Given the description of an element on the screen output the (x, y) to click on. 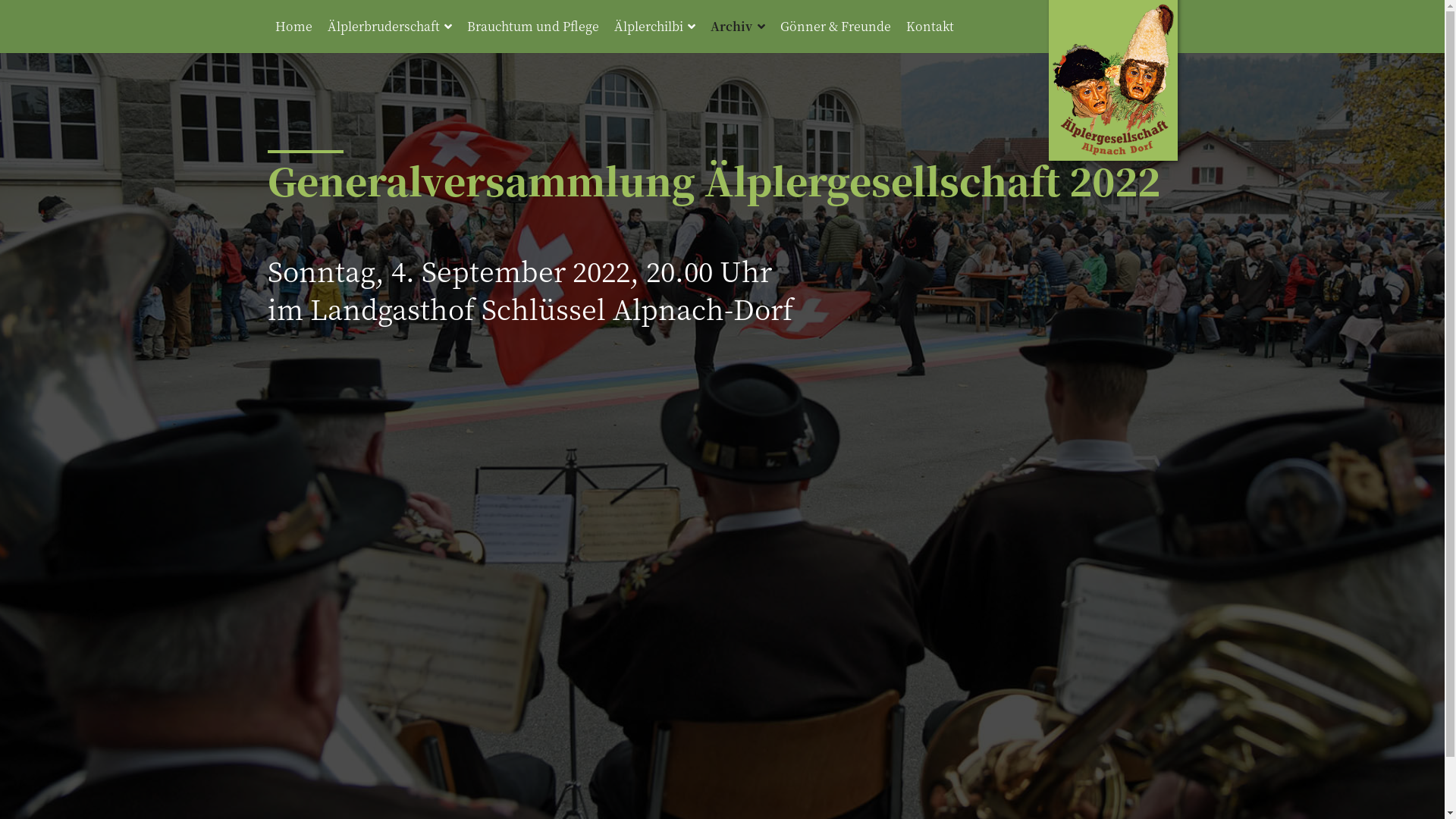
Kontakt Element type: text (929, 26)
Archiv Element type: text (736, 26)
Brauchtum und Pflege Element type: text (532, 26)
Home Element type: text (292, 26)
